Given the description of an element on the screen output the (x, y) to click on. 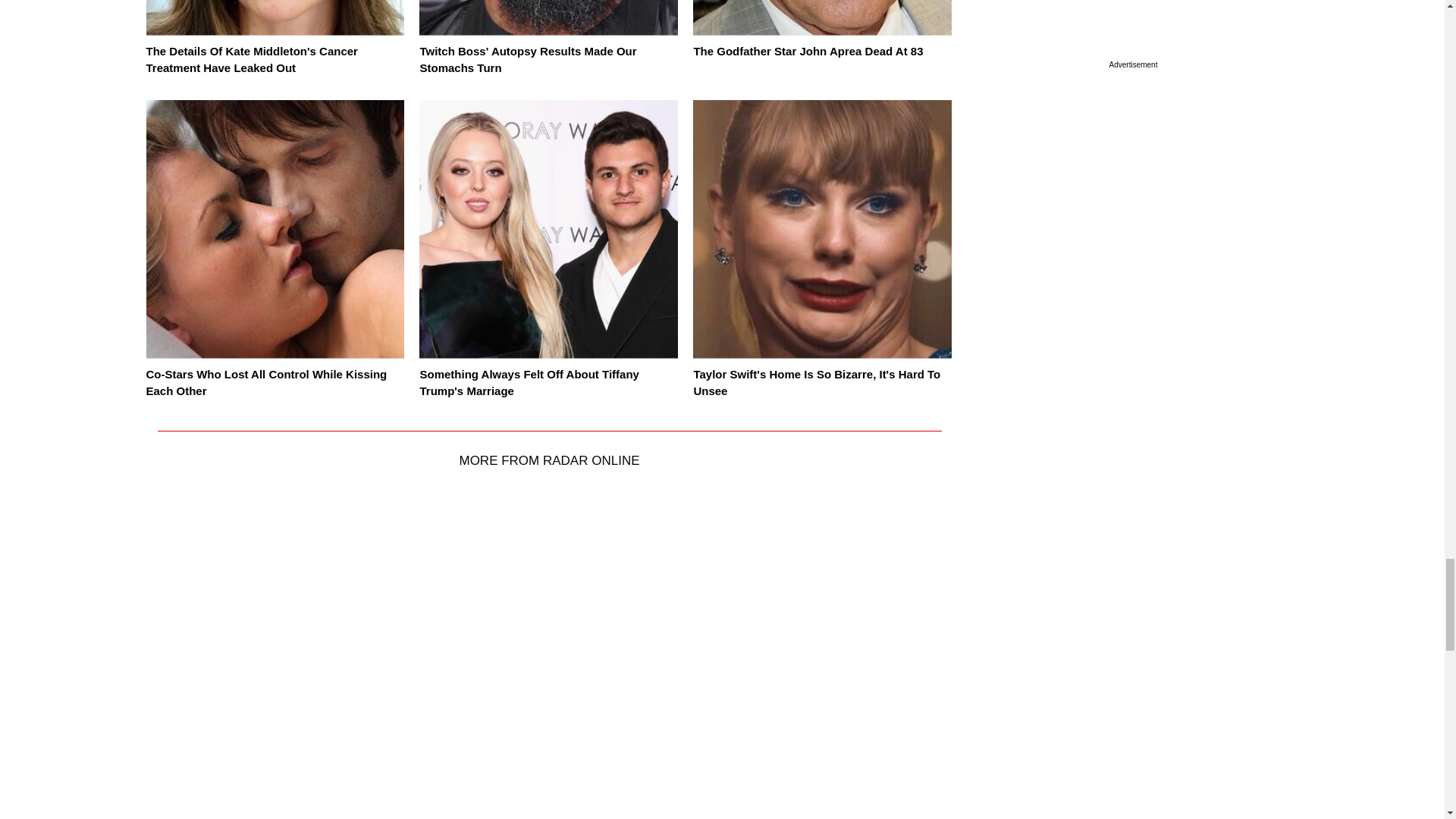
Taylor Swift's Home Is So Bizarre, It's Hard To Unsee (816, 382)
The Godfather Star John Aprea Dead At 83 (808, 51)
Something Always Felt Off About Tiffany Trump's Marriage (529, 382)
Co-Stars Who Lost All Control While Kissing Each Other (266, 382)
Twitch Boss' Autopsy Results Made Our Stomachs Turn (527, 60)
